Given the description of an element on the screen output the (x, y) to click on. 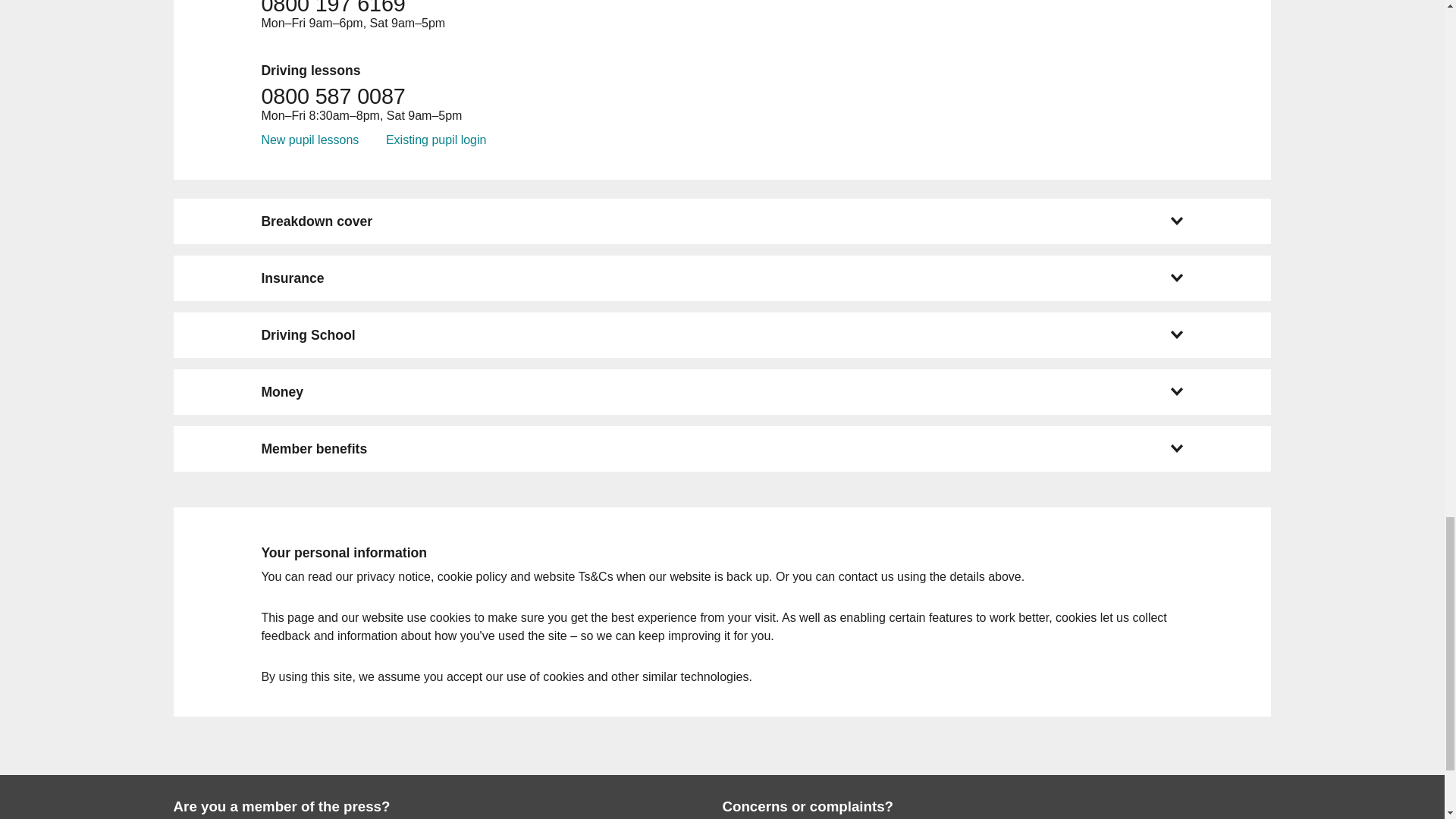
Existing pupil login (435, 140)
New pupil lessons (309, 140)
